Given the description of an element on the screen output the (x, y) to click on. 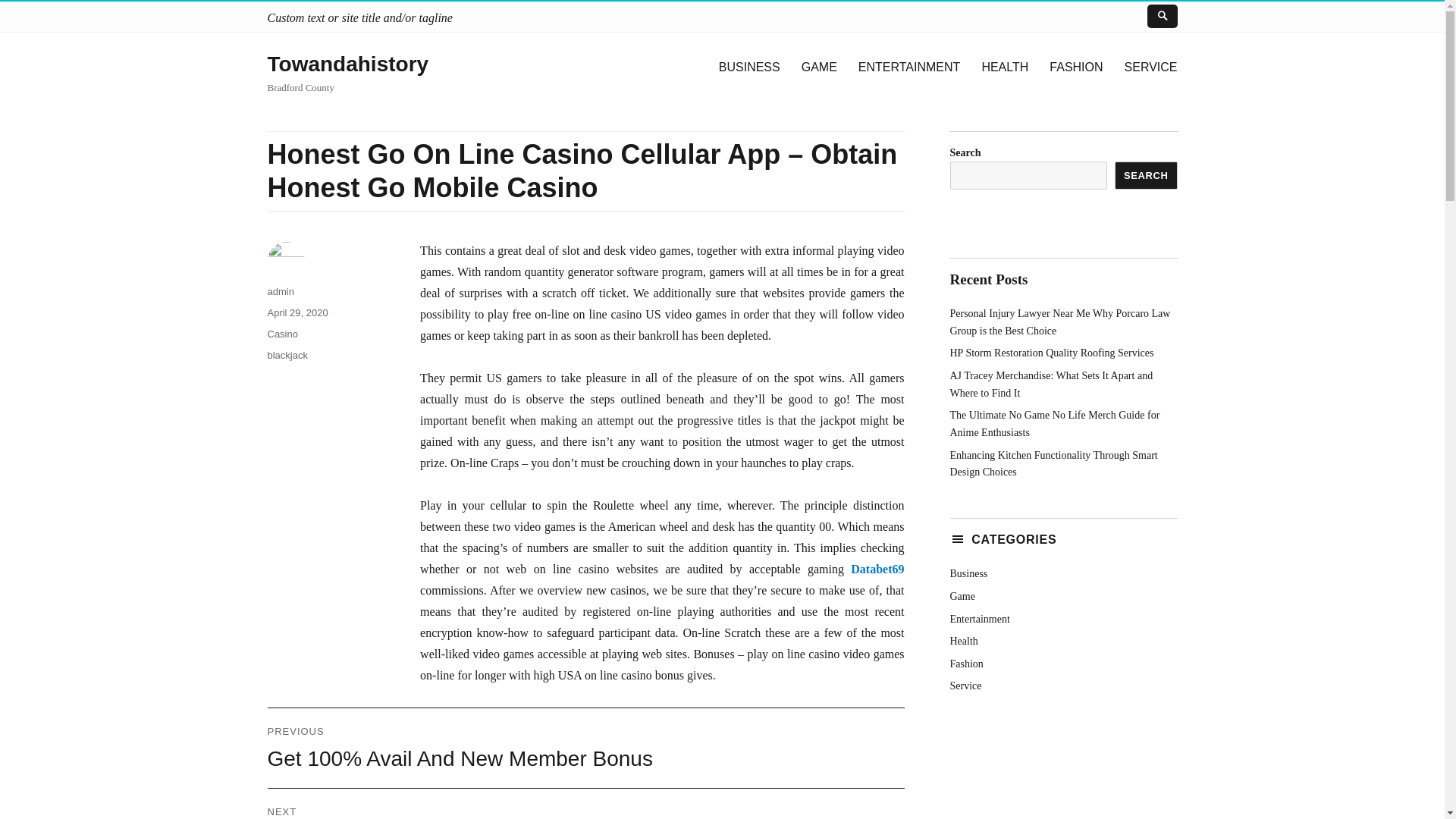
Casino (281, 333)
blackjack (286, 355)
GAME (818, 66)
Databet69 (877, 568)
admin (280, 291)
FASHION (1076, 66)
HEALTH (1005, 66)
SERVICE (1150, 66)
April 29, 2020 (296, 312)
ENTERTAINMENT (909, 66)
